Given the description of an element on the screen output the (x, y) to click on. 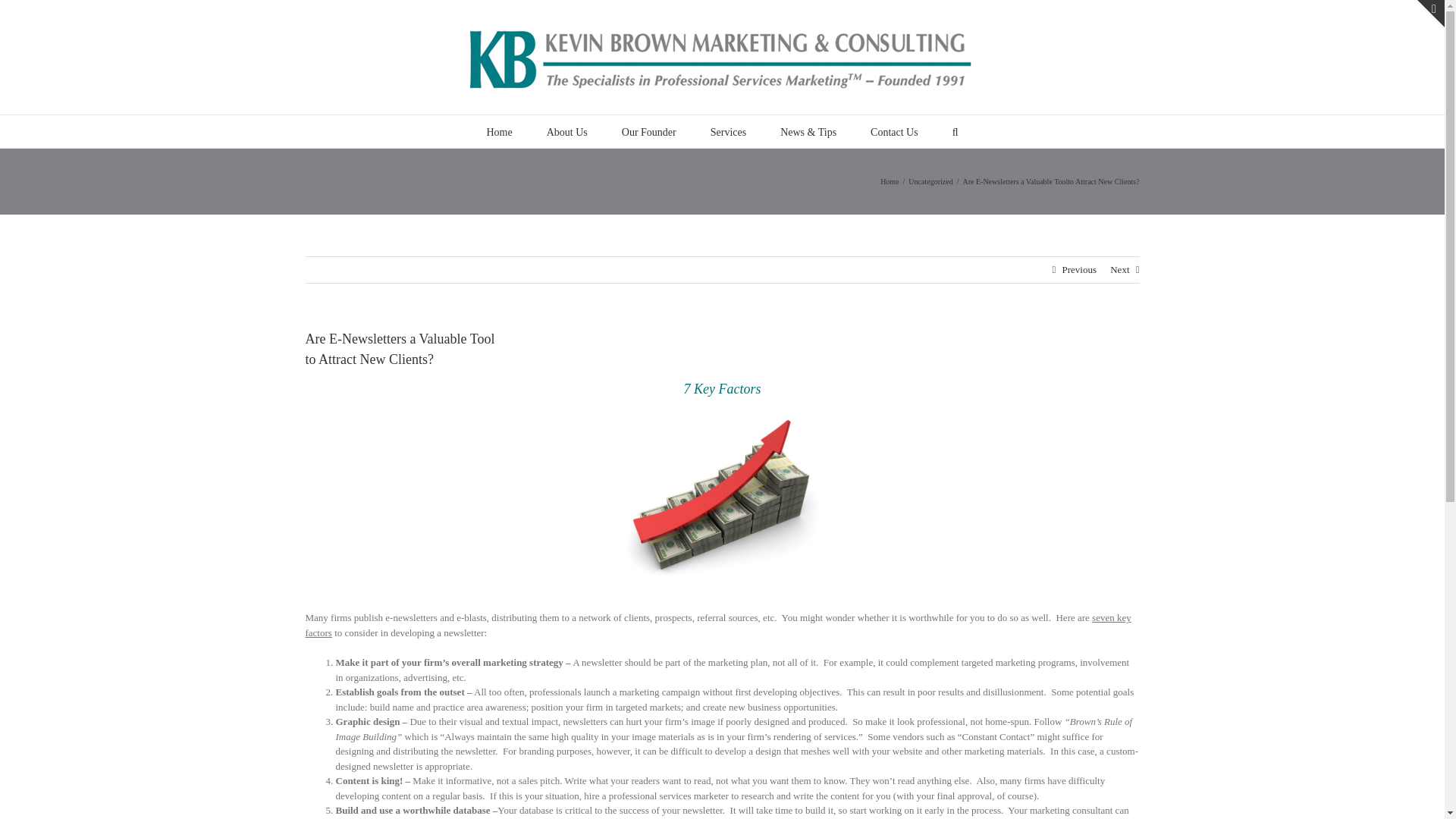
Our Founder (649, 131)
Contact Us (894, 131)
Services (727, 131)
About Us (567, 131)
